Given the description of an element on the screen output the (x, y) to click on. 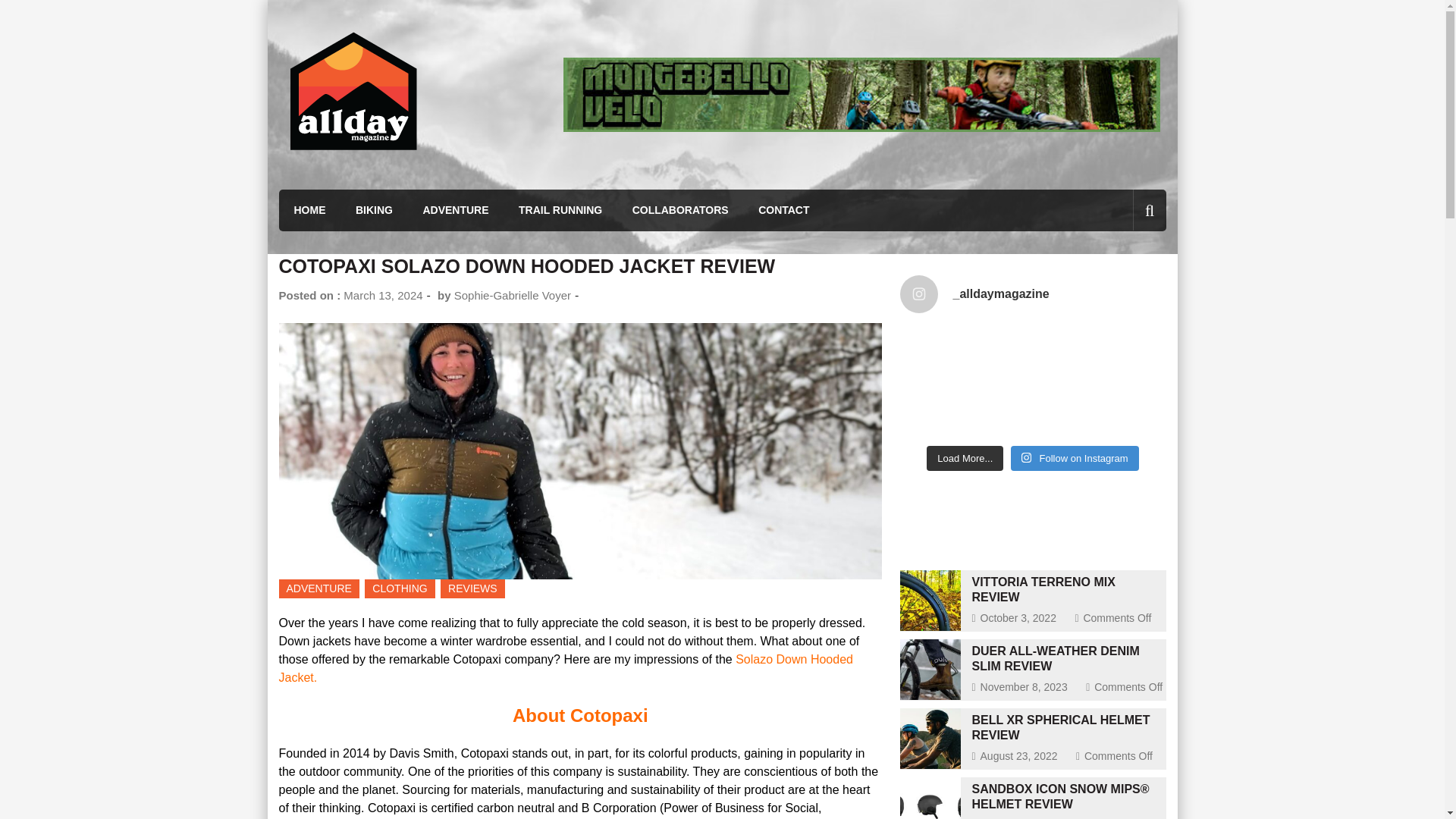
Allday magazine (382, 182)
BIKING (374, 209)
Search (1123, 44)
